Given the description of an element on the screen output the (x, y) to click on. 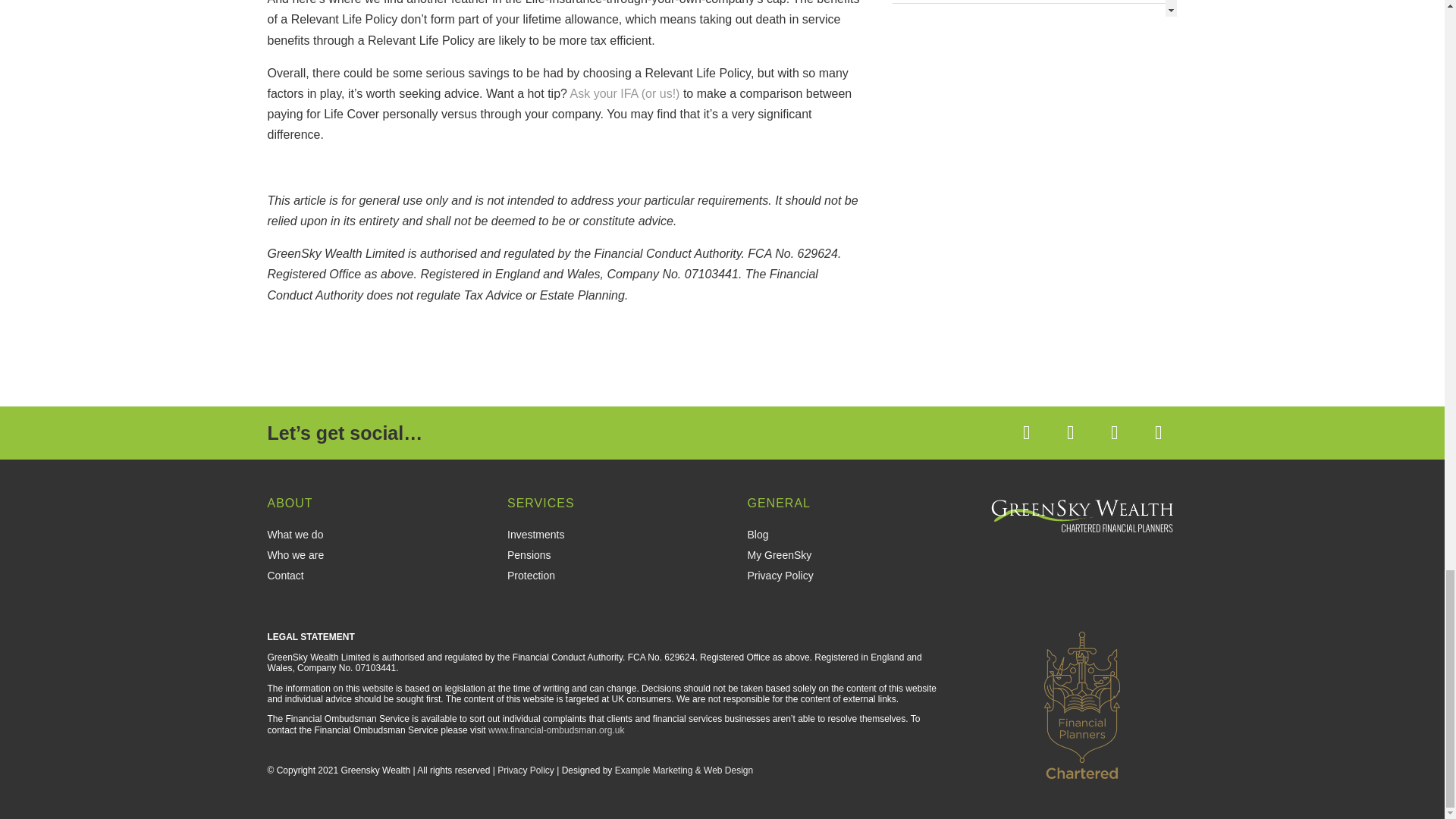
Follow on Instagram (1157, 433)
Follow on Facebook (1026, 433)
Follow on X (1070, 433)
Follow on LinkedIn (1113, 433)
Contact us (624, 92)
